Given the description of an element on the screen output the (x, y) to click on. 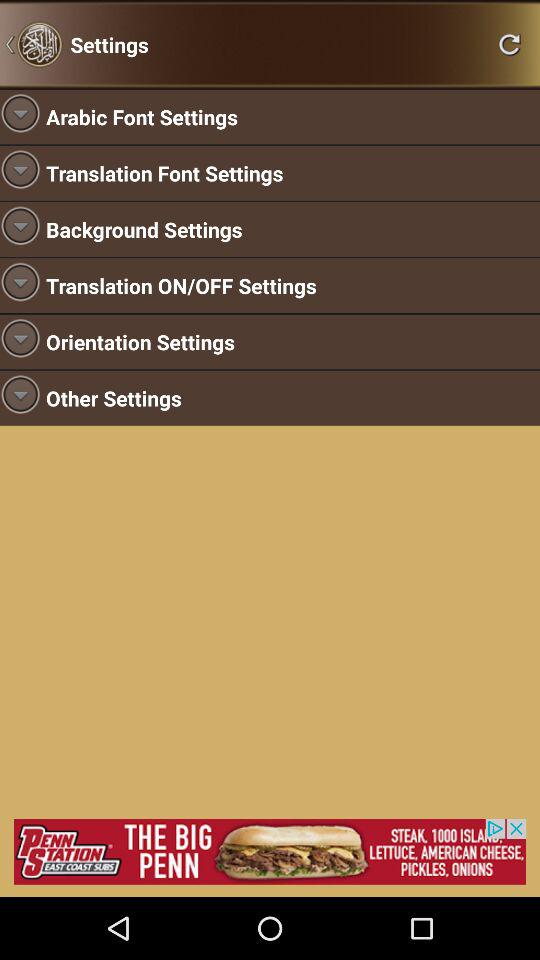
advertisement (270, 851)
